Given the description of an element on the screen output the (x, y) to click on. 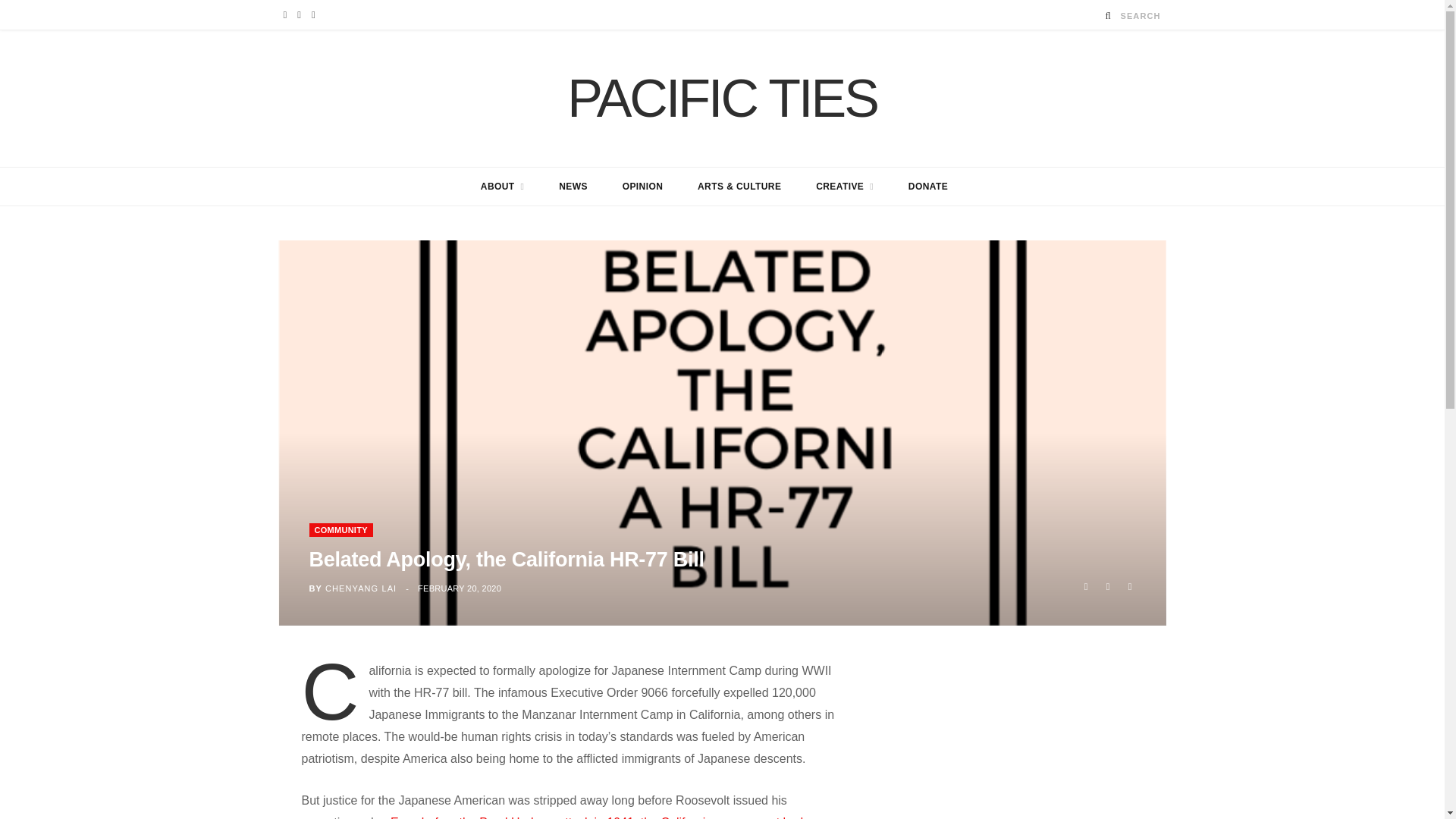
DONATE (927, 186)
Posts by Chenyang Lai (360, 587)
PACIFIC TIES (722, 98)
FEBRUARY 20, 2020 (458, 587)
Share on Twitter (1106, 586)
Share on Facebook (1086, 586)
COMMUNITY (340, 530)
ABOUT (502, 186)
Email (1130, 586)
